Given the description of an element on the screen output the (x, y) to click on. 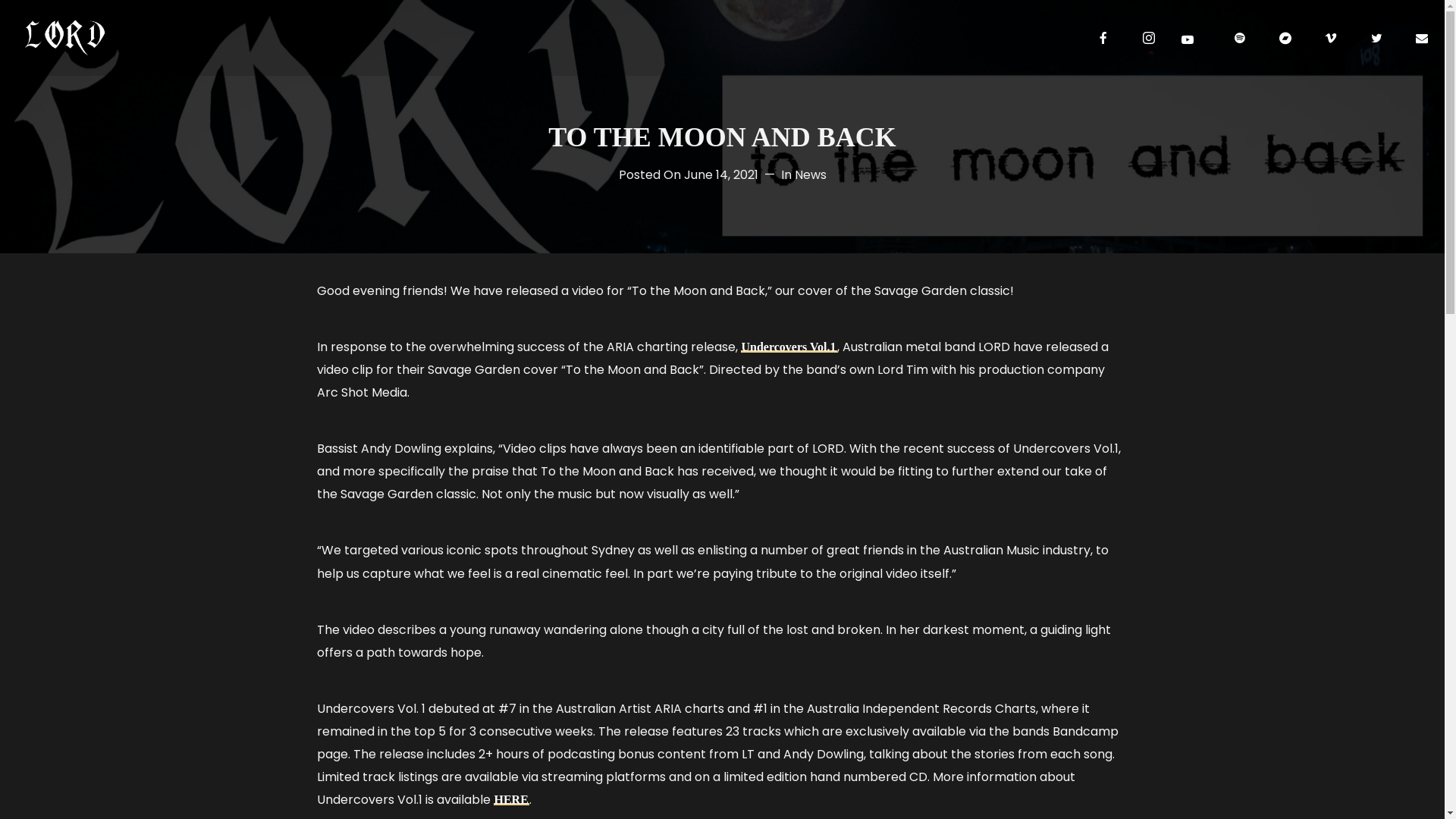
twitter Element type: hover (1376, 37)
News Element type: text (810, 174)
facebook Element type: hover (1103, 37)
spotify Element type: hover (1239, 37)
bandcamp Element type: hover (1285, 37)
vimeo Element type: hover (1330, 37)
Undercovers Vol.1 Element type: text (788, 346)
email Element type: hover (1421, 37)
youtube Element type: hover (1187, 39)
HERE Element type: text (510, 799)
instagram Element type: hover (1148, 37)
